Given the description of an element on the screen output the (x, y) to click on. 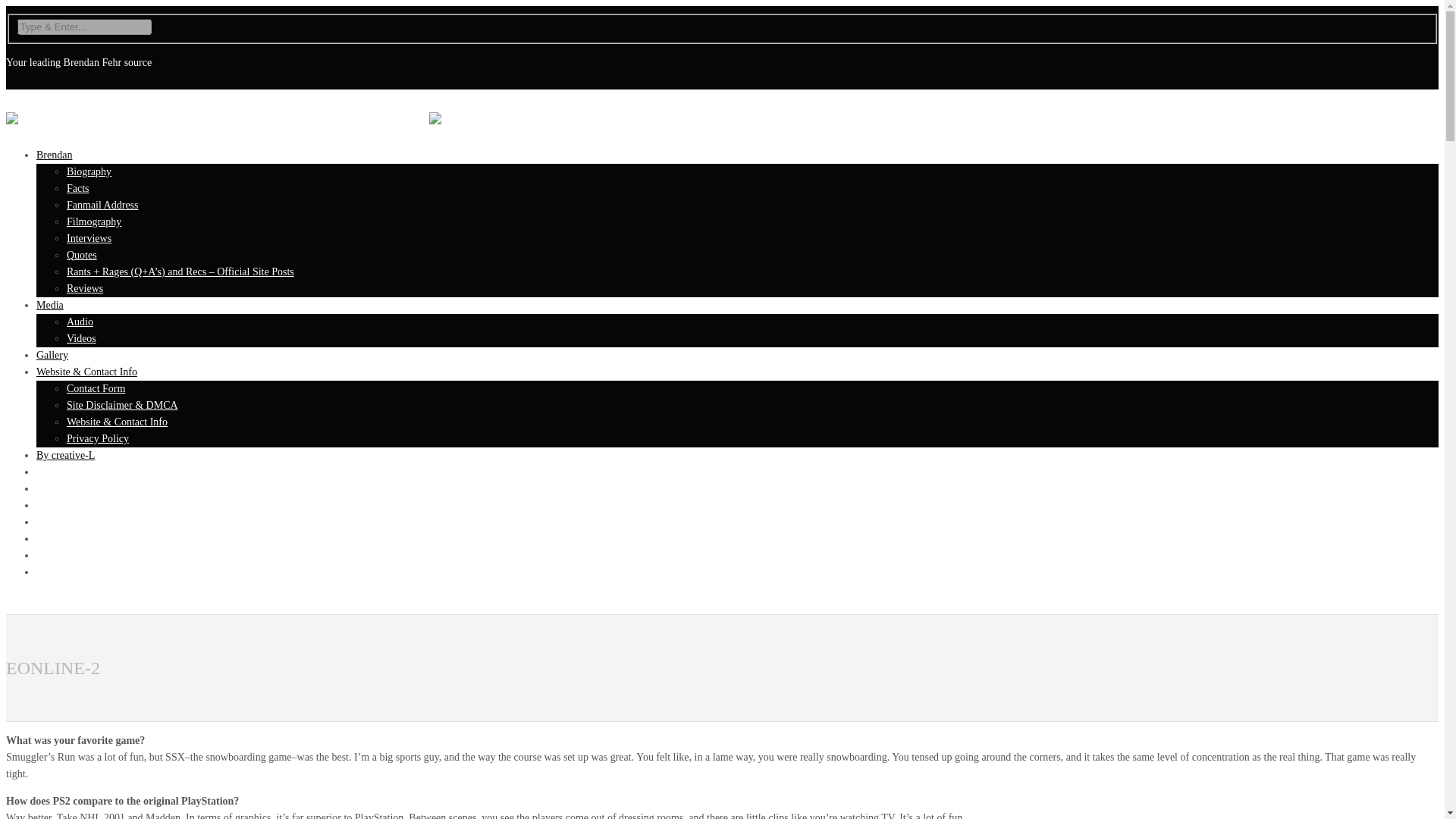
Facts (77, 188)
Privacy Policy (97, 438)
Videos (81, 337)
Brendan (53, 154)
Interviews (89, 238)
Media (50, 305)
Fanmail Address (102, 204)
Audio (79, 321)
Gallery (52, 355)
Biography (89, 171)
